Given the description of an element on the screen output the (x, y) to click on. 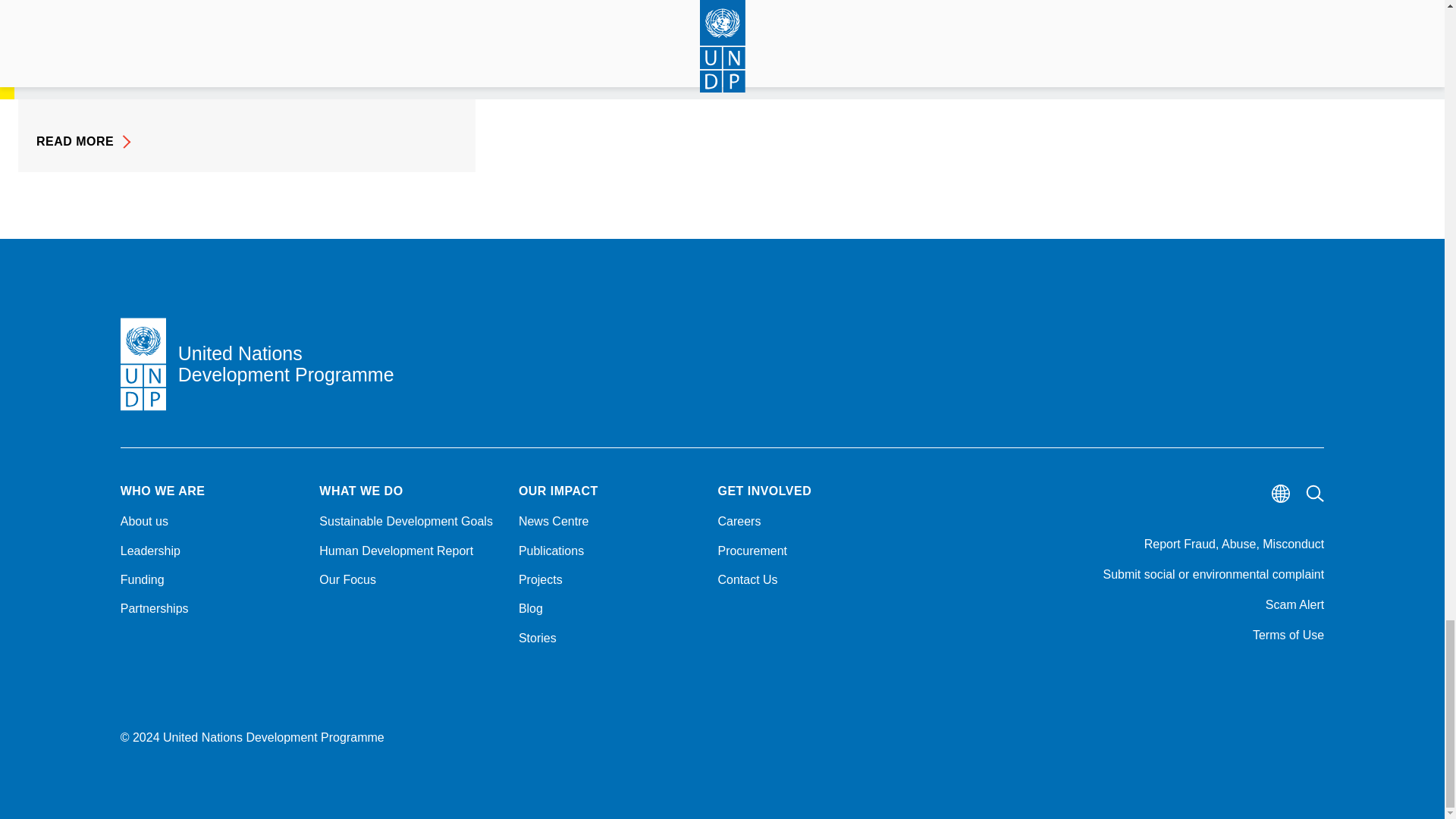
Funding (210, 579)
About us (210, 521)
Leadership (210, 550)
WHO WE ARE (210, 490)
